Given the description of an element on the screen output the (x, y) to click on. 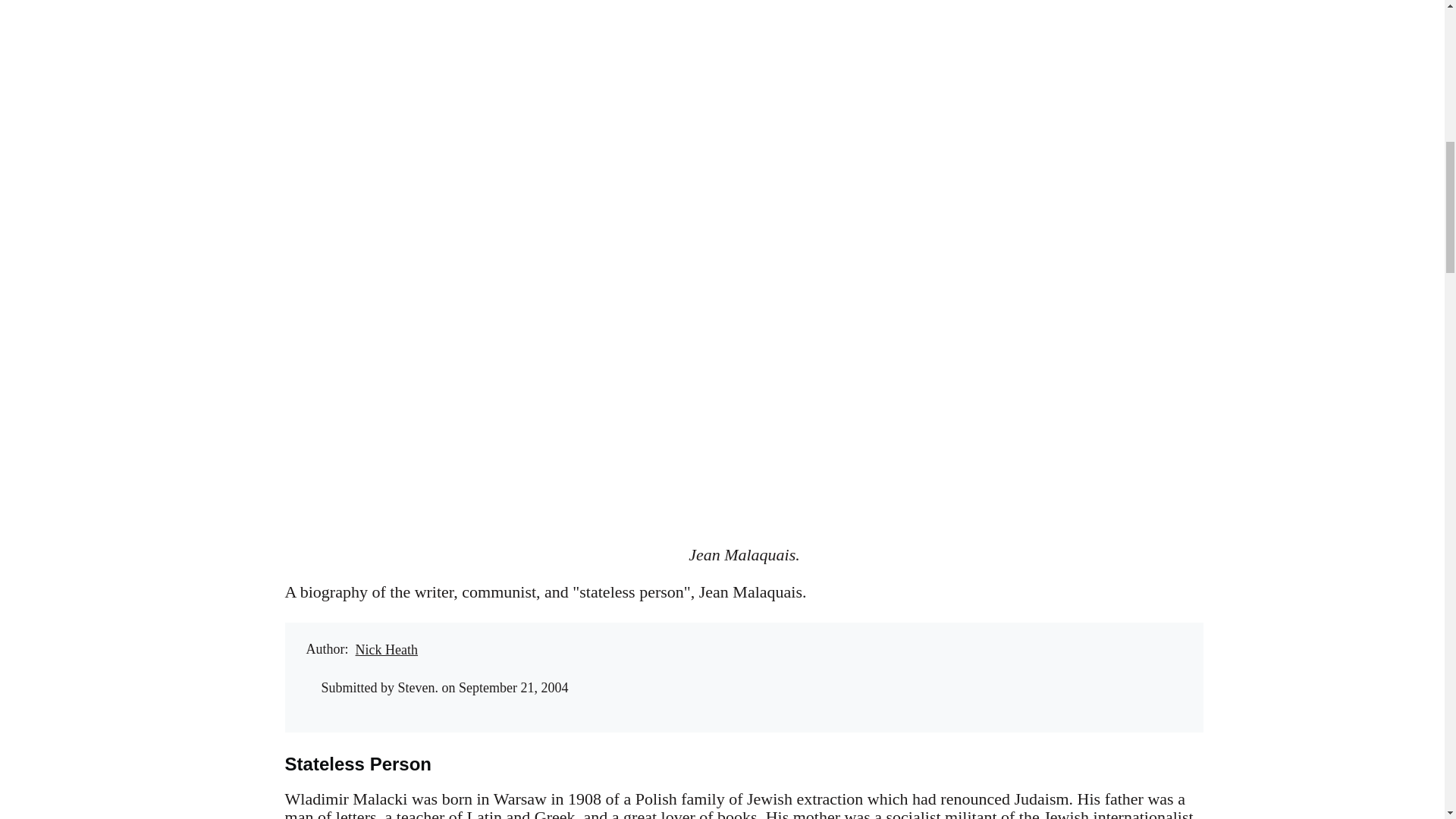
Share to Reddit (975, 652)
Share to Twitter (945, 652)
Nick Heath (386, 649)
Share to Facebook (914, 652)
